Given the description of an element on the screen output the (x, y) to click on. 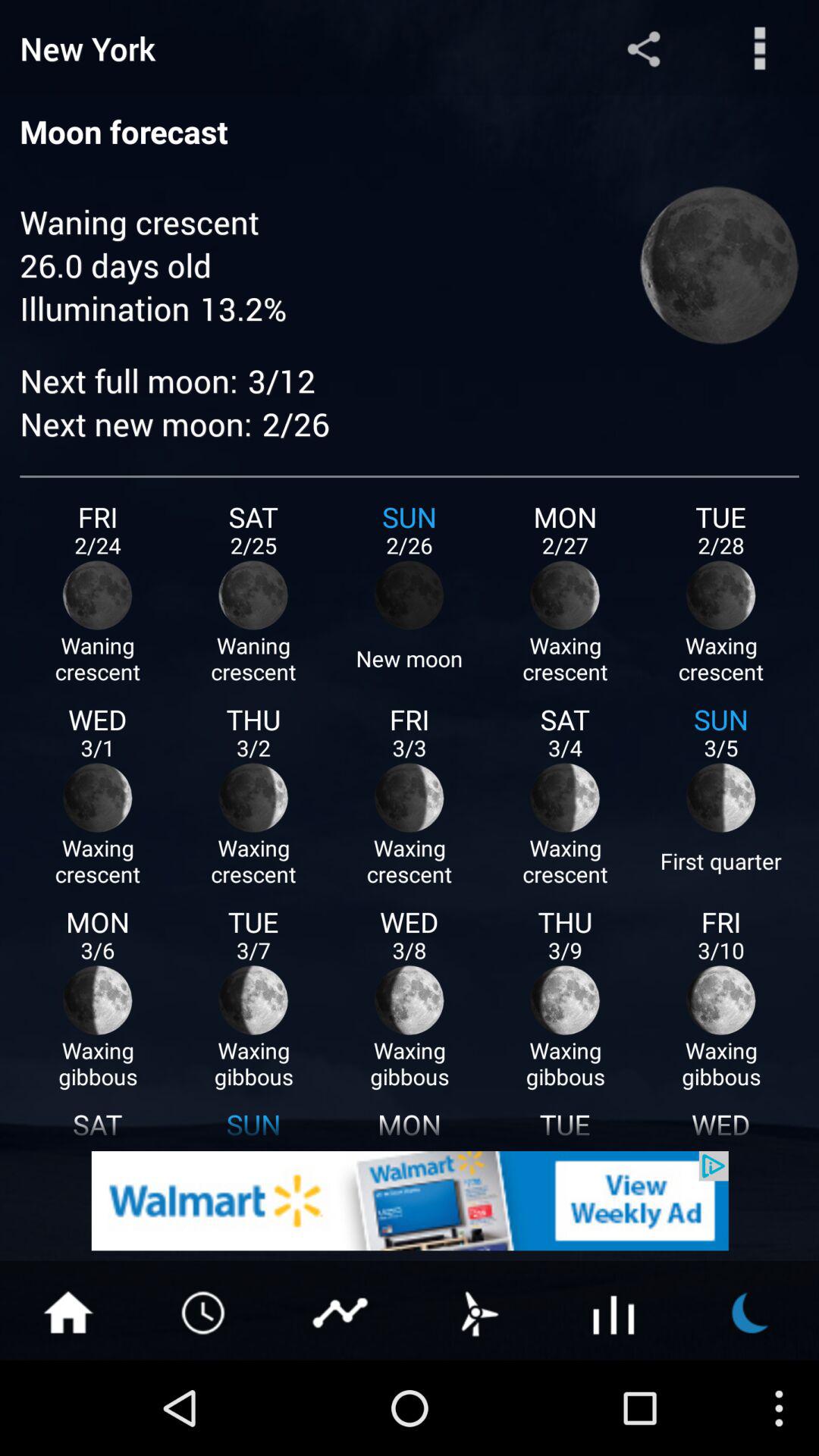
time option (204, 1311)
